Given the description of an element on the screen output the (x, y) to click on. 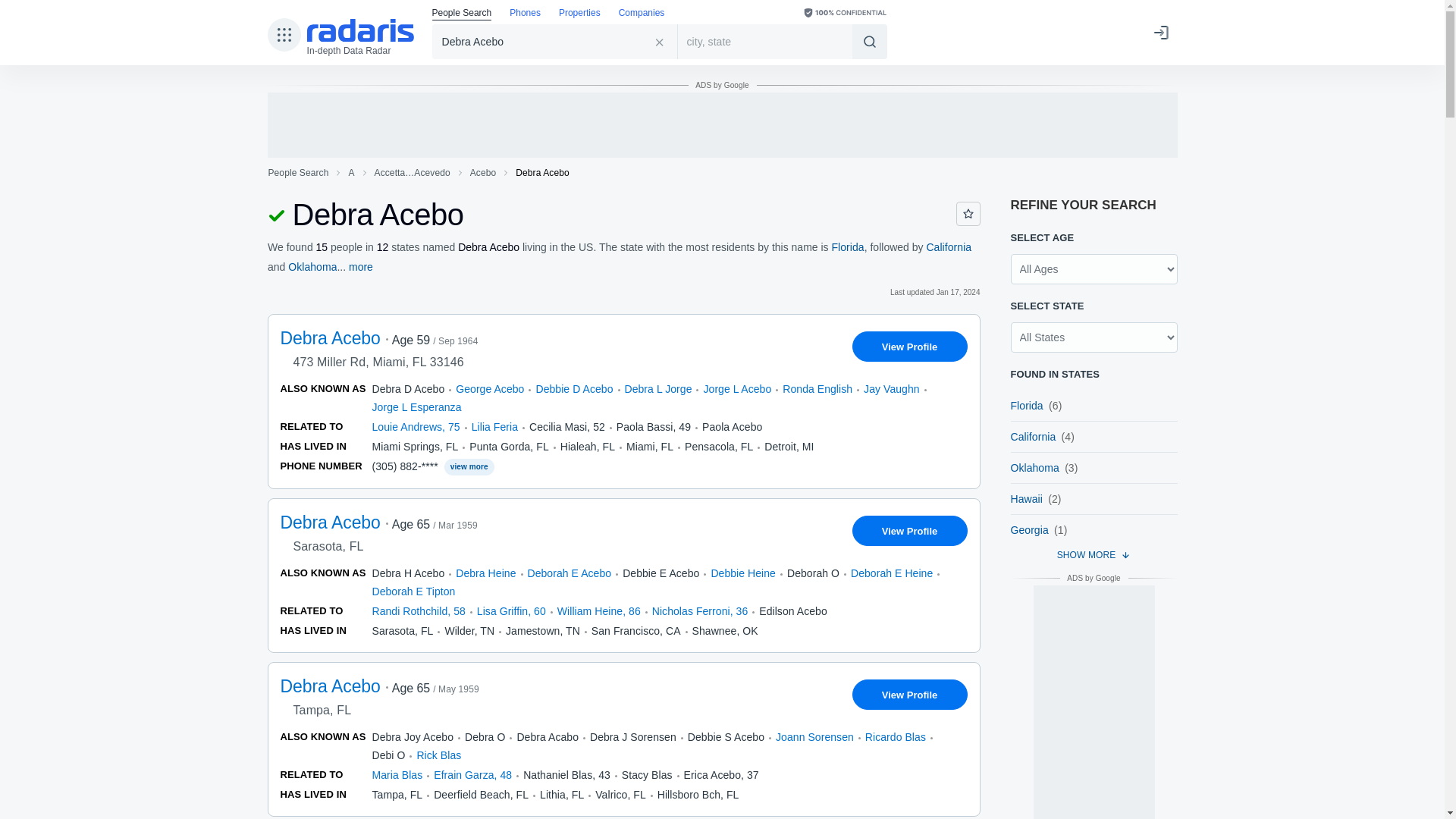
Properties (579, 13)
A (350, 172)
People Search (462, 13)
Acebo (483, 172)
People Search (297, 172)
Debra L Jorge (658, 388)
George Acebo (489, 388)
Debbie D Acebo (573, 388)
Jorge L Esperanza (416, 407)
Ronda English (817, 388)
